Given the description of an element on the screen output the (x, y) to click on. 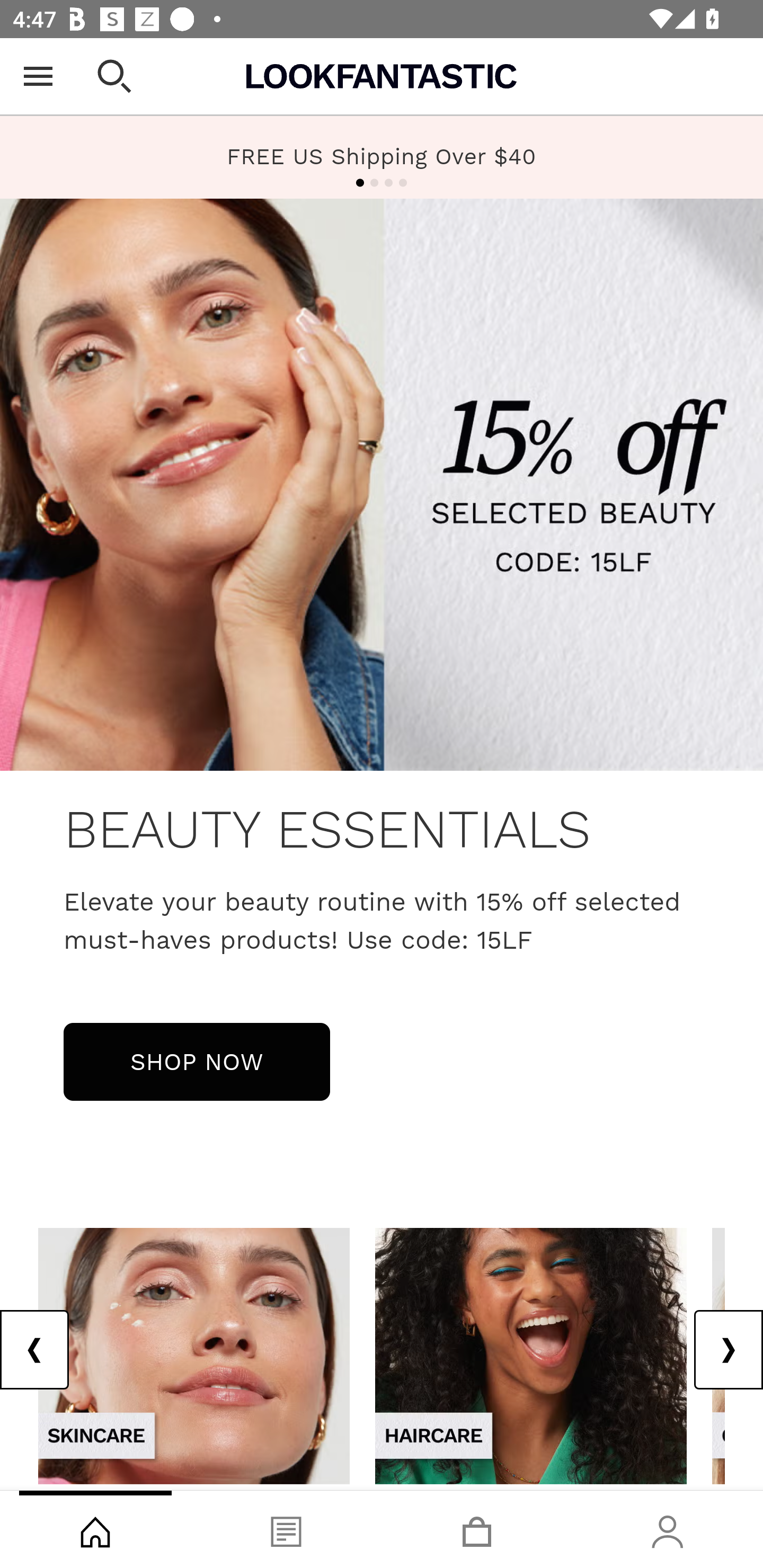
Shop, tab, 1 of 4 (95, 1529)
Blog, tab, 2 of 4 (285, 1529)
Basket, tab, 3 of 4 (476, 1529)
Account, tab, 4 of 4 (667, 1529)
